Given the description of an element on the screen output the (x, y) to click on. 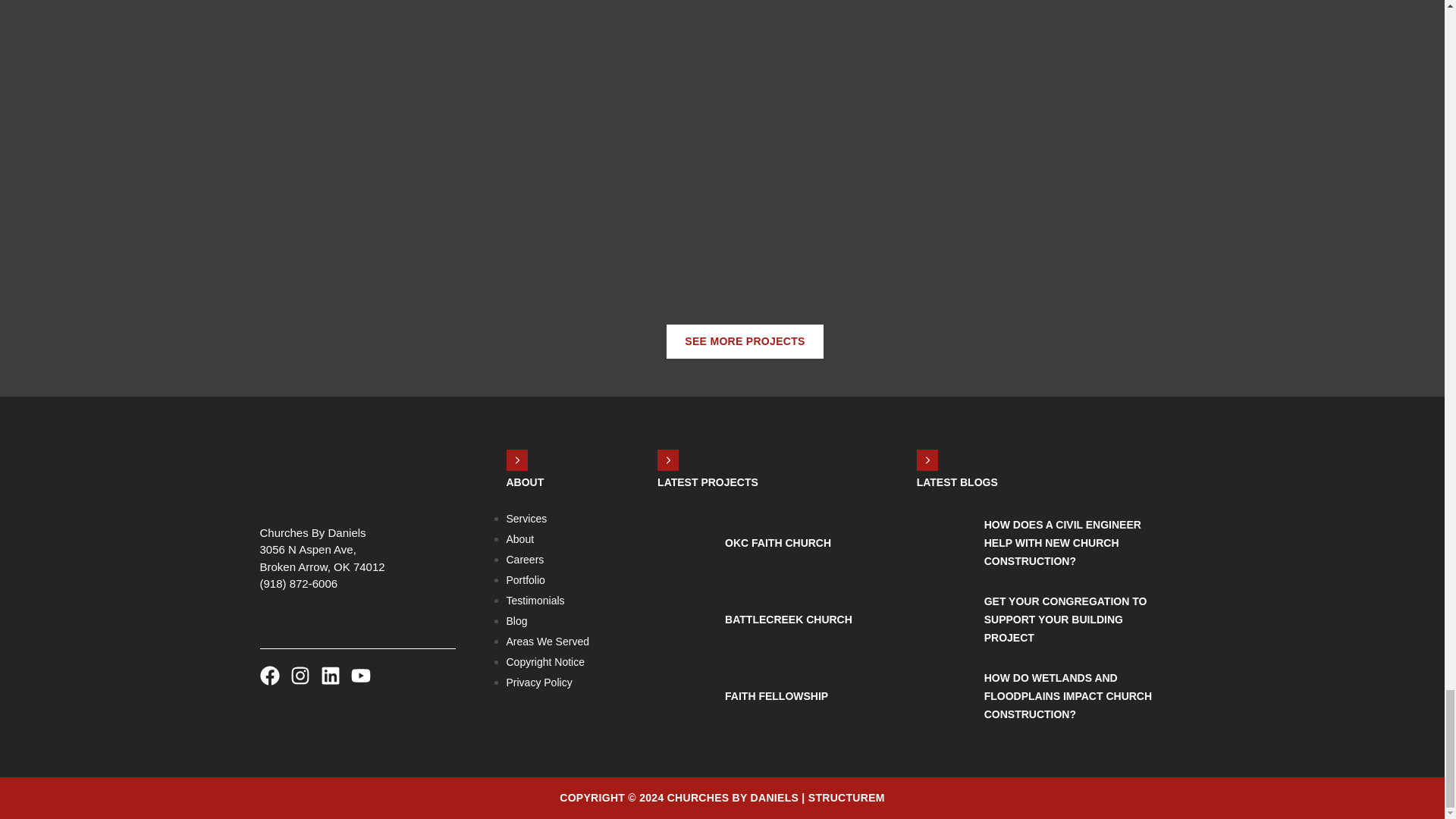
BattleCreek Church (685, 637)
BattleCreek Church (788, 619)
OKC Faith Church (685, 561)
Faith Fellowship (685, 714)
OKC Faith Church (778, 542)
